Given the description of an element on the screen output the (x, y) to click on. 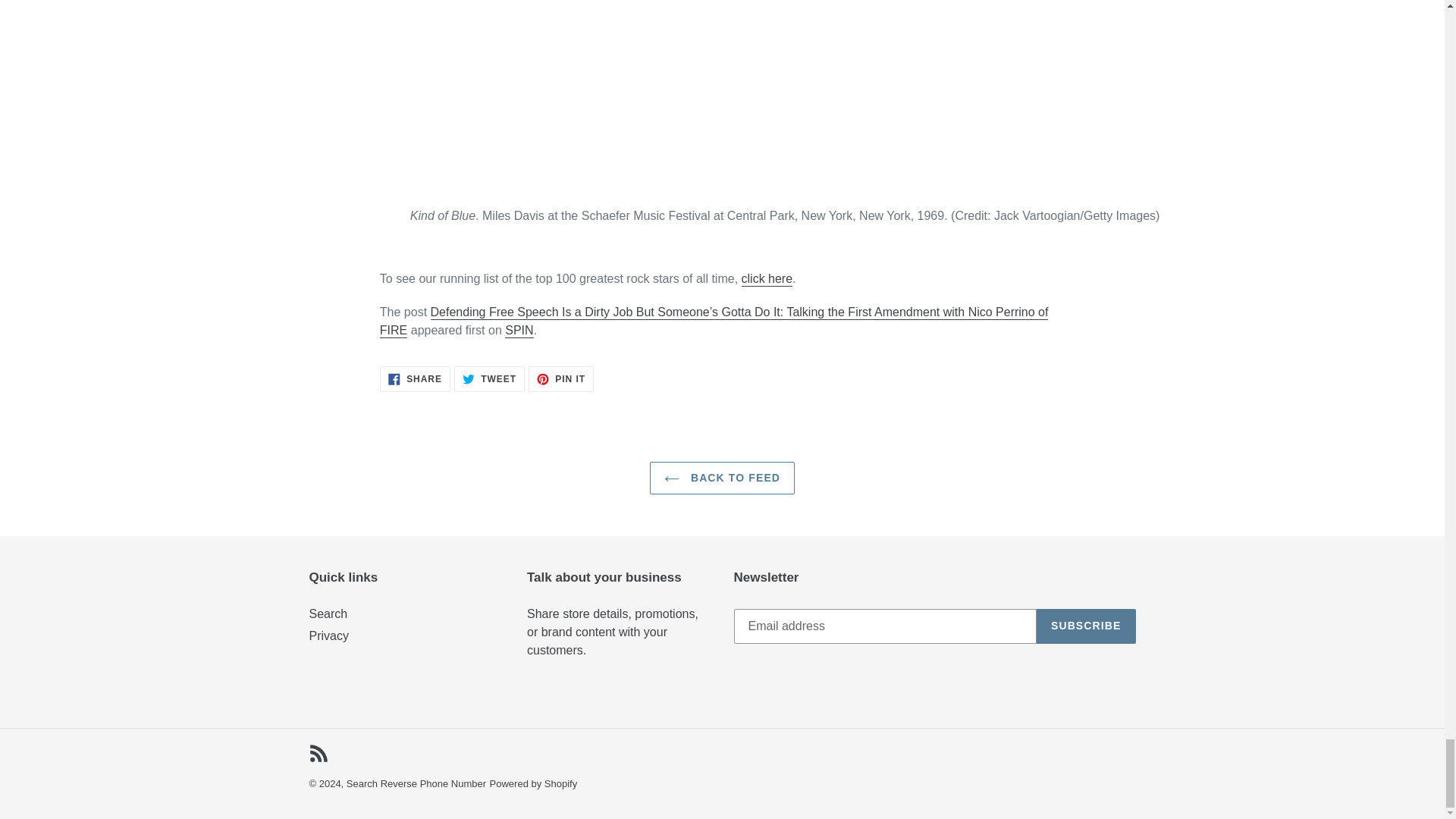
SPIN (518, 330)
BACK TO FEED (721, 477)
Search Reverse Phone Number (416, 783)
click here (767, 278)
Powered by Shopify (533, 783)
Search (561, 379)
Privacy (327, 613)
SUBSCRIBE (328, 635)
RSS (1085, 626)
